Given the description of an element on the screen output the (x, y) to click on. 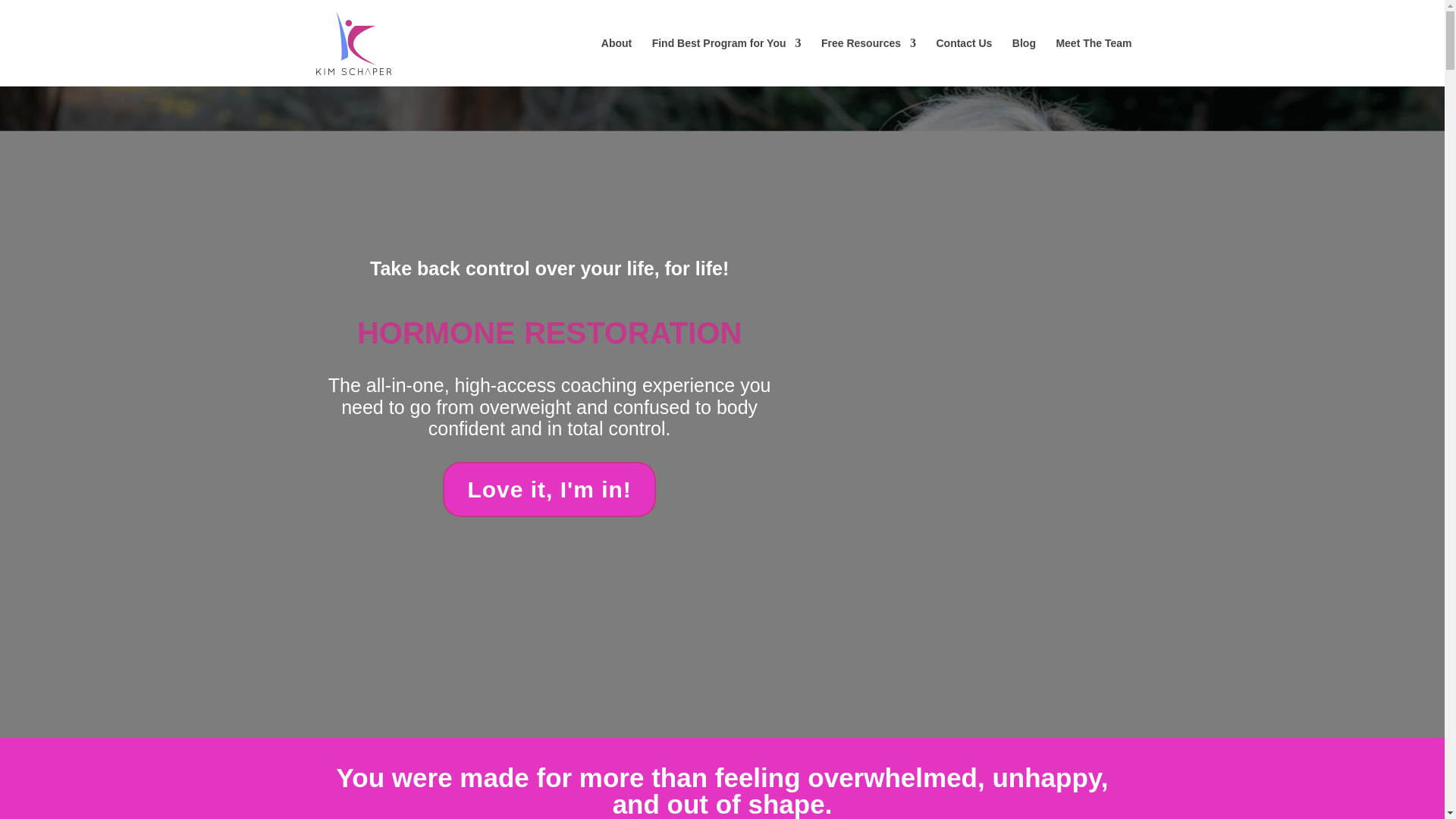
Contact Us (963, 61)
Free Resources (868, 61)
Love it, I'm in! (548, 488)
Find Best Program for You (727, 61)
Meet The Team (1093, 61)
